Given the description of an element on the screen output the (x, y) to click on. 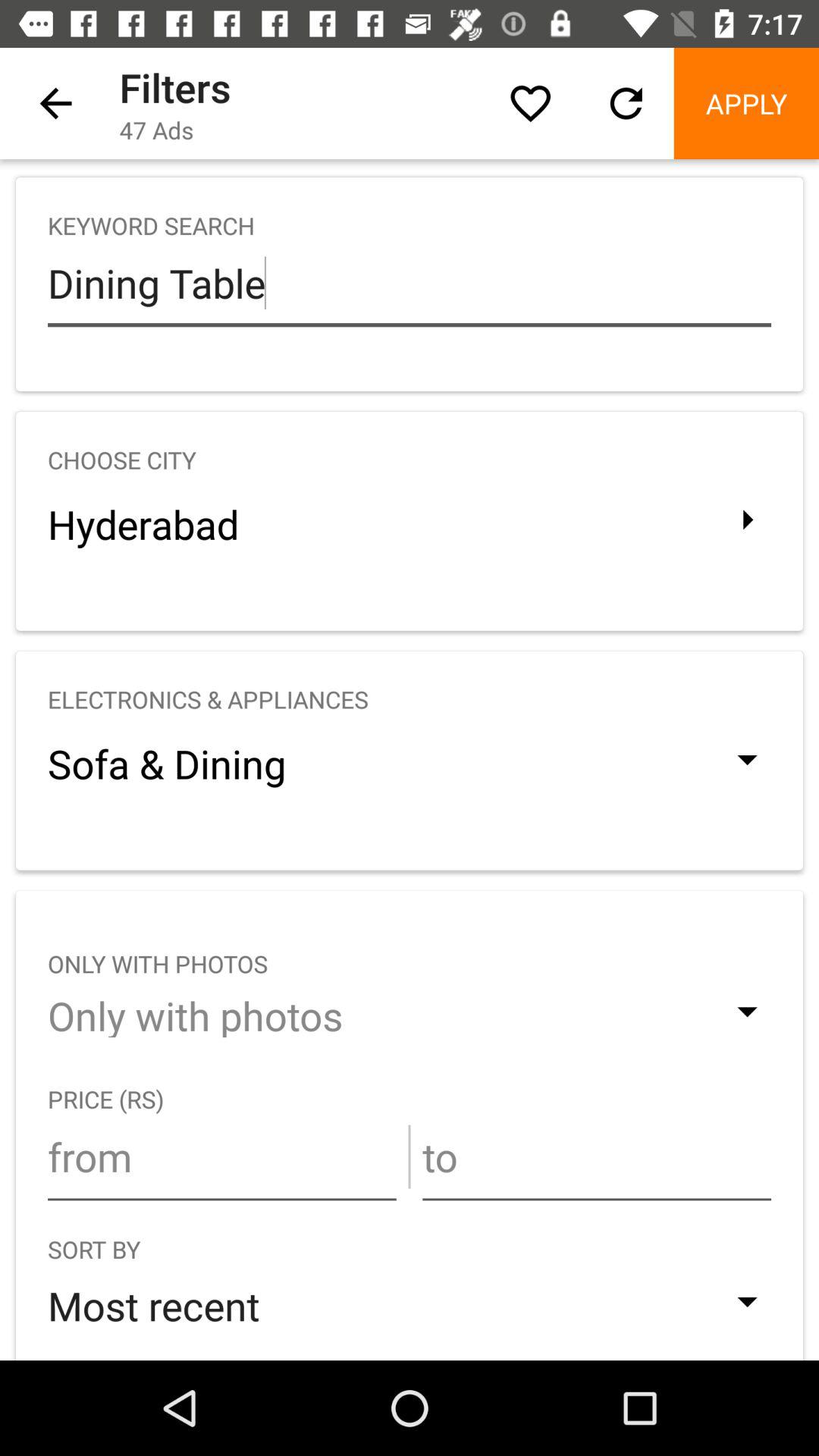
tap the icon above the choose city (409, 283)
